Given the description of an element on the screen output the (x, y) to click on. 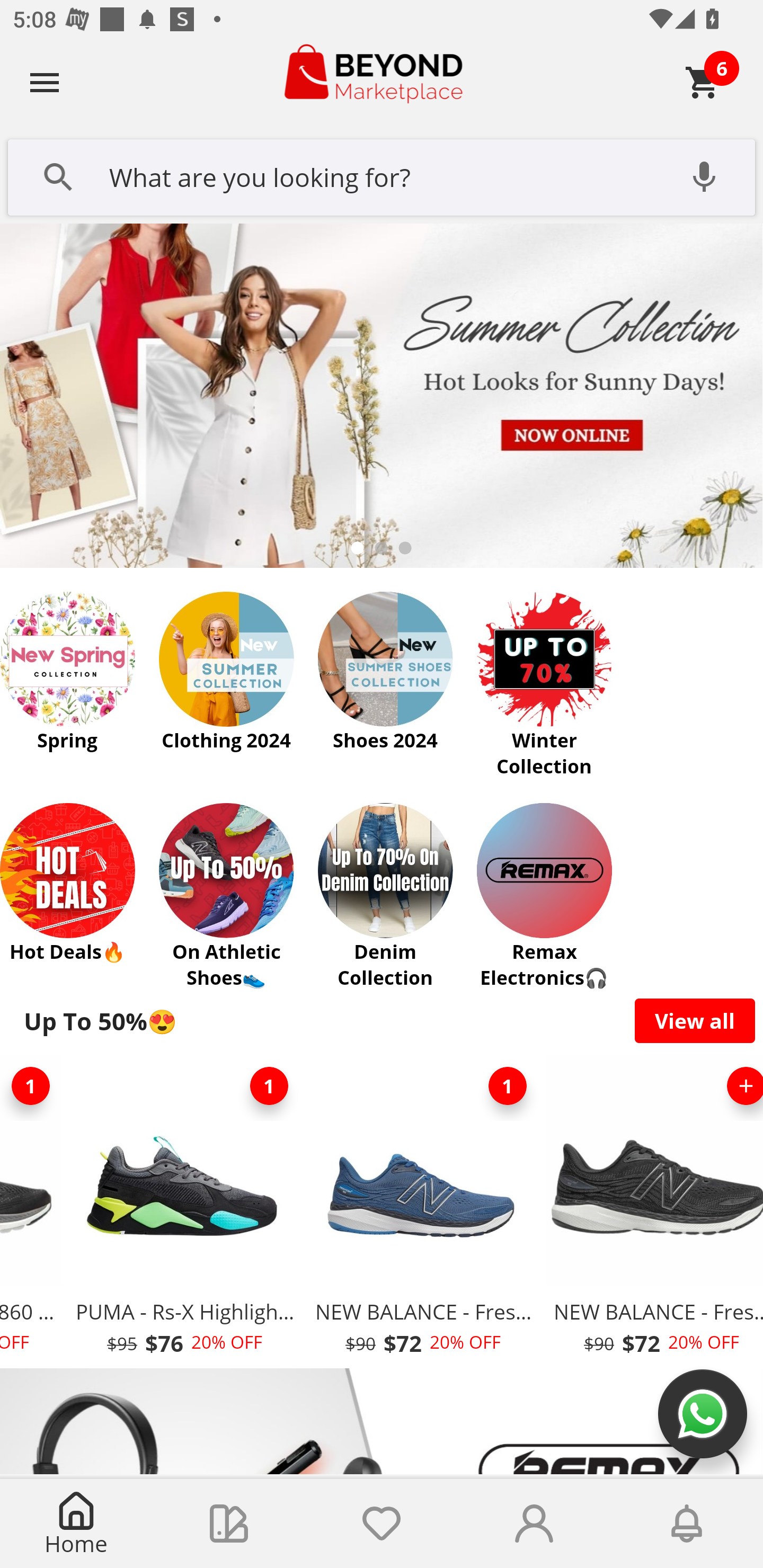
Navigate up (44, 82)
What are you looking for? (381, 175)
View all (694, 1020)
1 (32, 1085)
1 (269, 1085)
1 (507, 1085)
Collections (228, 1523)
Wishlist (381, 1523)
Account (533, 1523)
Notifications (686, 1523)
